Given the description of an element on the screen output the (x, y) to click on. 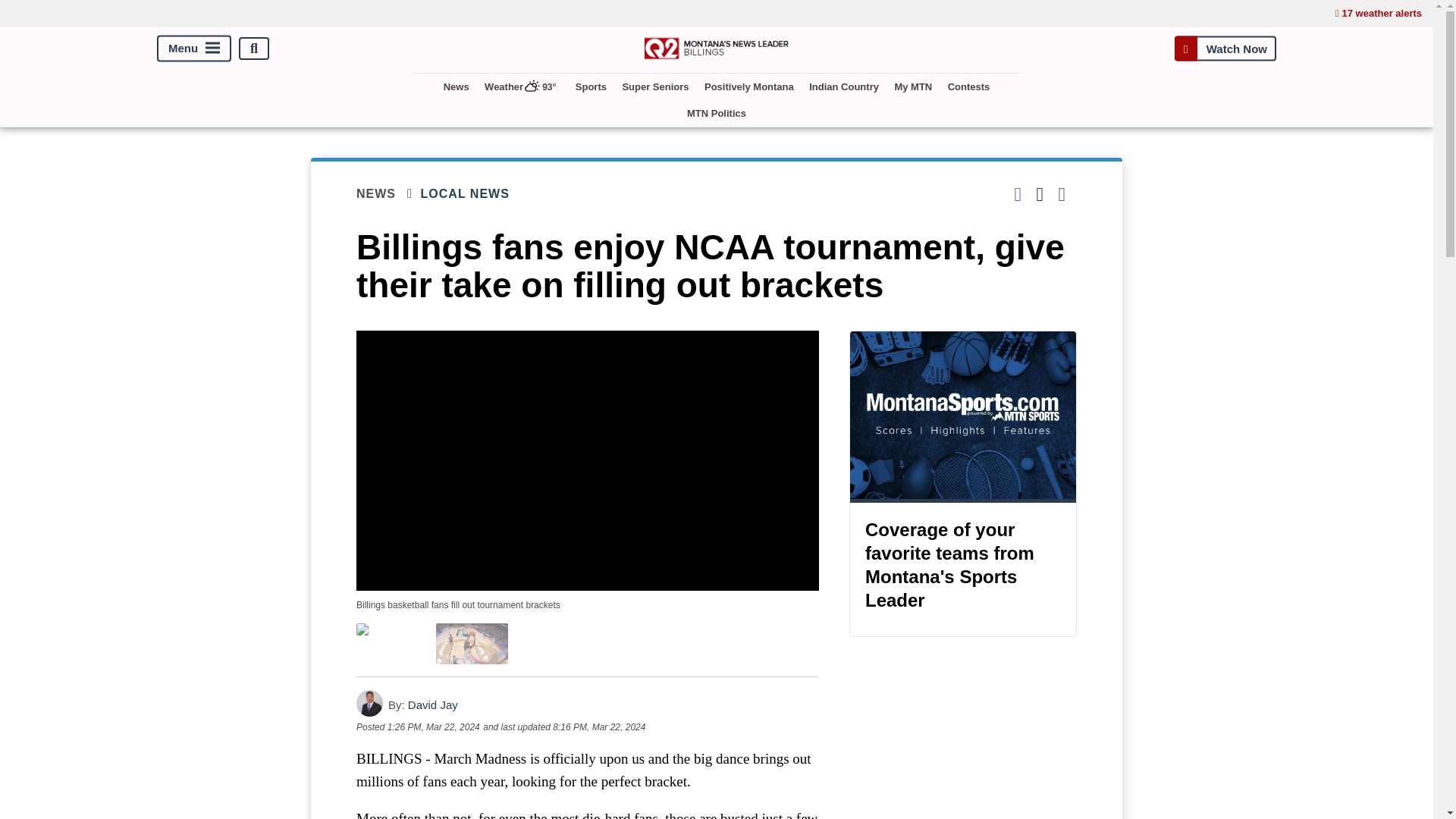
Menu (194, 49)
Watch Now (1224, 48)
